Given the description of an element on the screen output the (x, y) to click on. 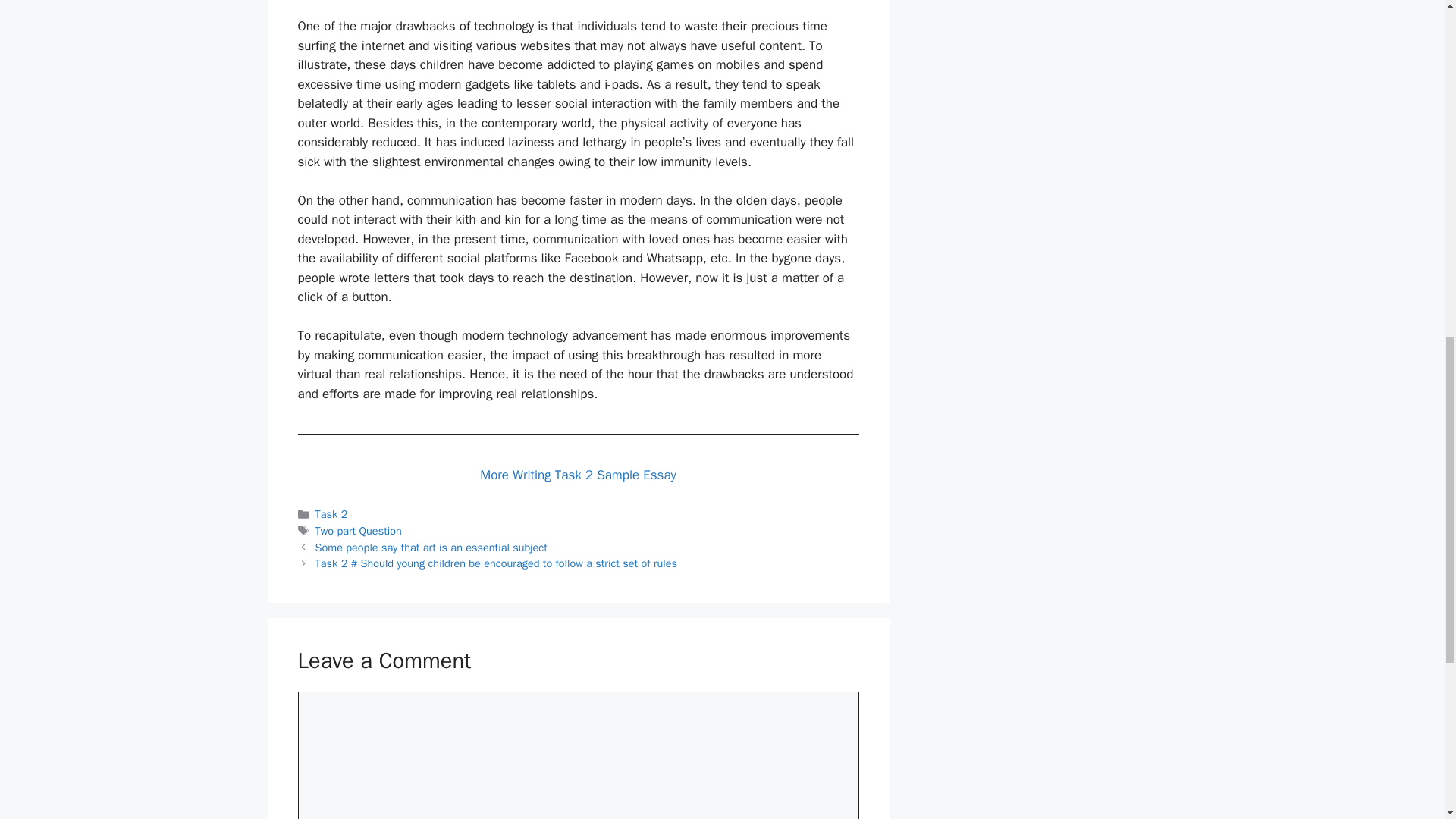
Two-part Question (358, 530)
Some people say that art is an essential subject (431, 547)
Task 2 (331, 513)
More Writing Task 2 Sample Essay (577, 474)
